Given the description of an element on the screen output the (x, y) to click on. 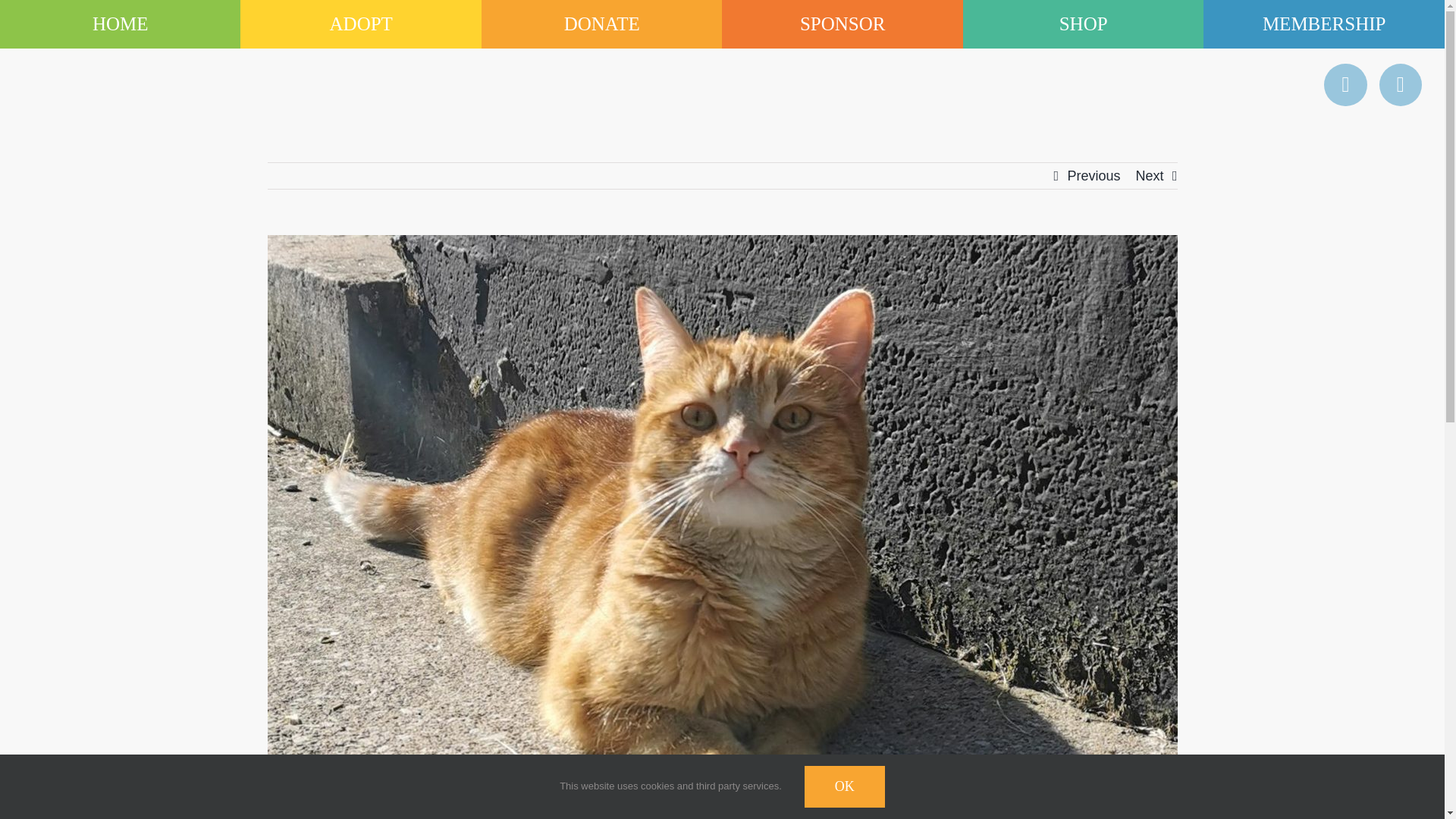
Previous (1093, 175)
Next (1149, 175)
